Given the description of an element on the screen output the (x, y) to click on. 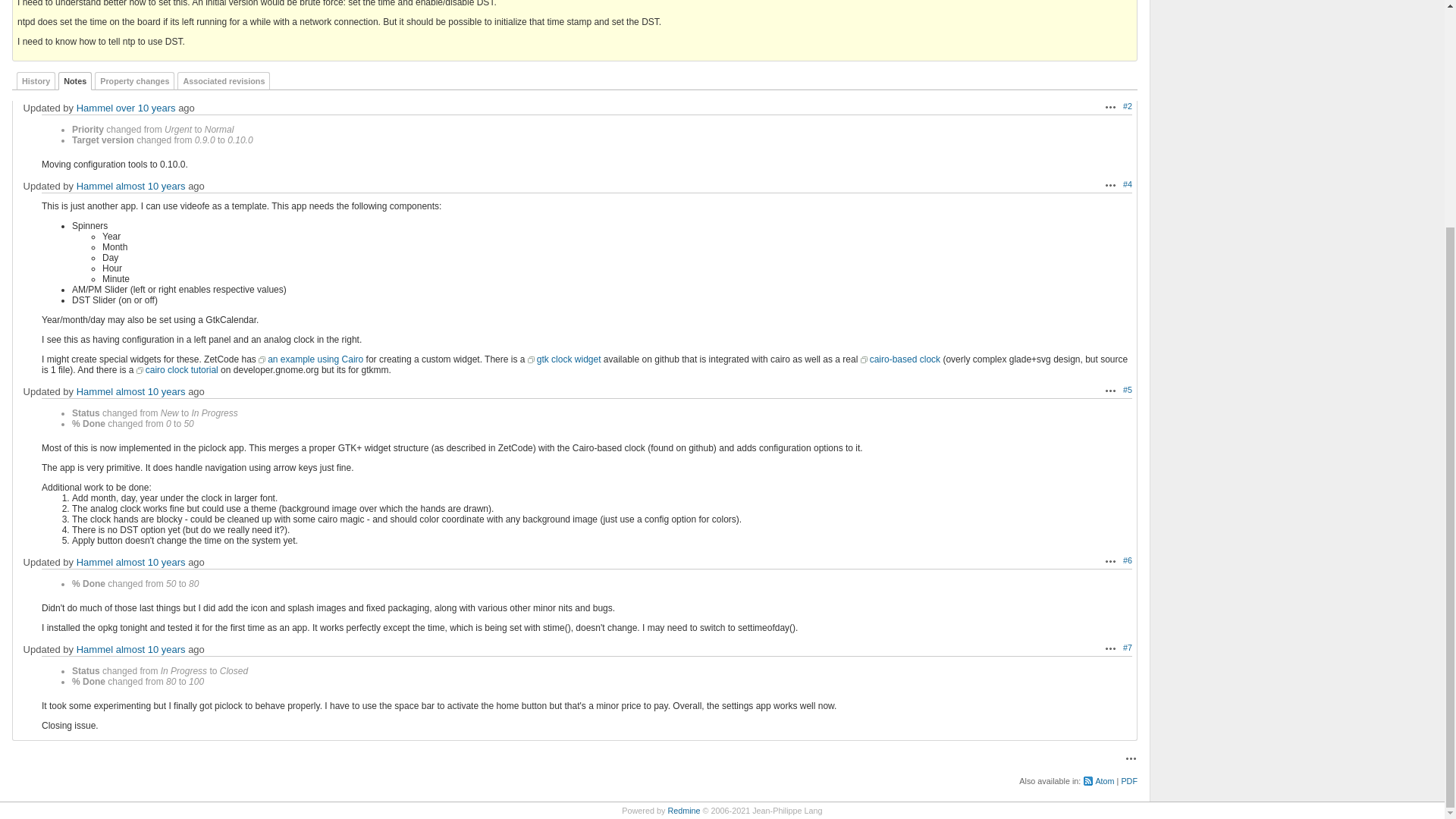
06 May 2014 20:39 (146, 107)
Actions (1110, 390)
Associated revisions (223, 81)
History (35, 81)
Actions (1110, 106)
Actions (1110, 184)
07 Nov 2014 14:51 (151, 185)
Notes (74, 81)
Property changes (134, 81)
